Given the description of an element on the screen output the (x, y) to click on. 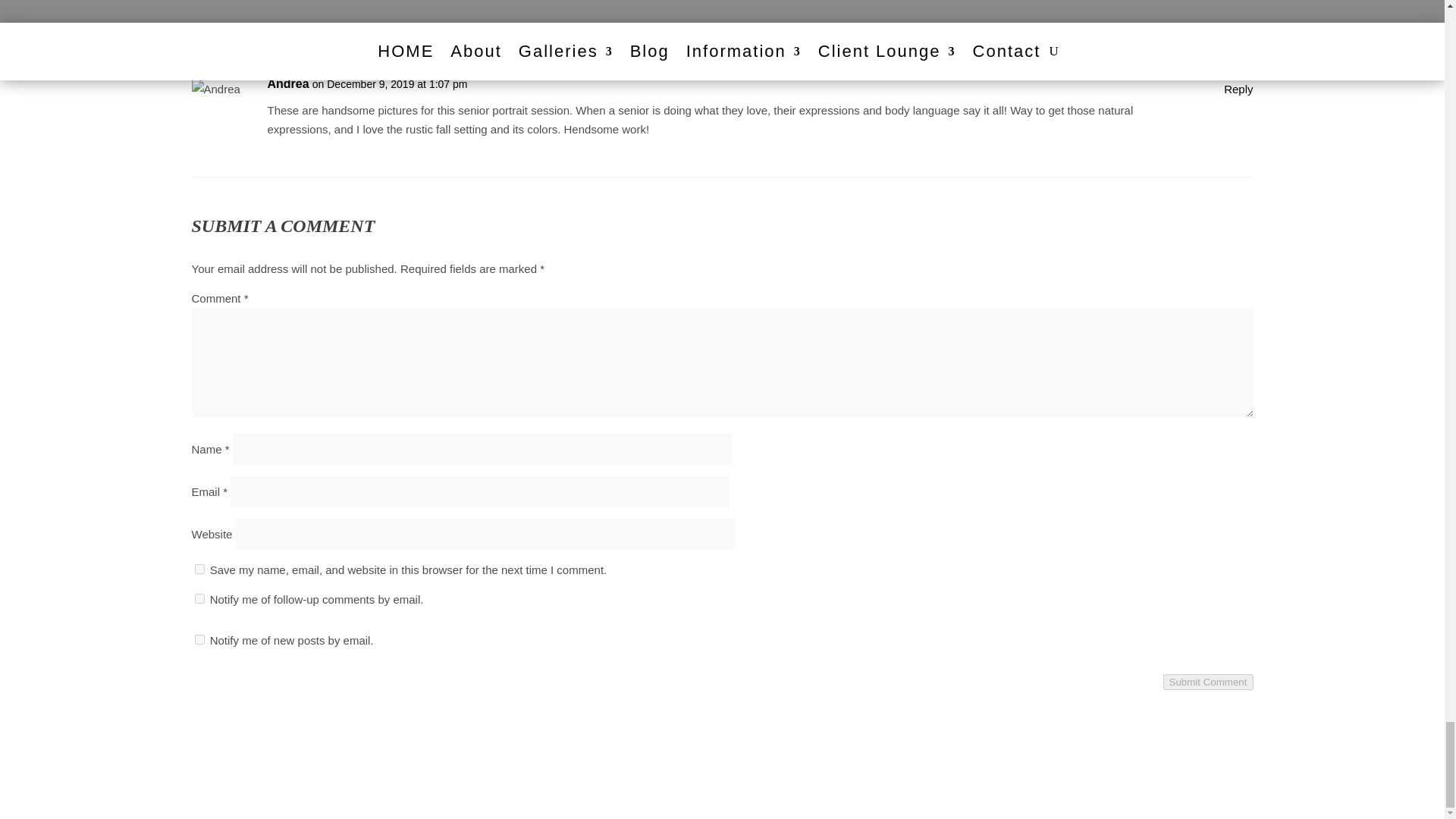
yes (198, 569)
subscribe (198, 598)
subscribe (198, 639)
